Given the description of an element on the screen output the (x, y) to click on. 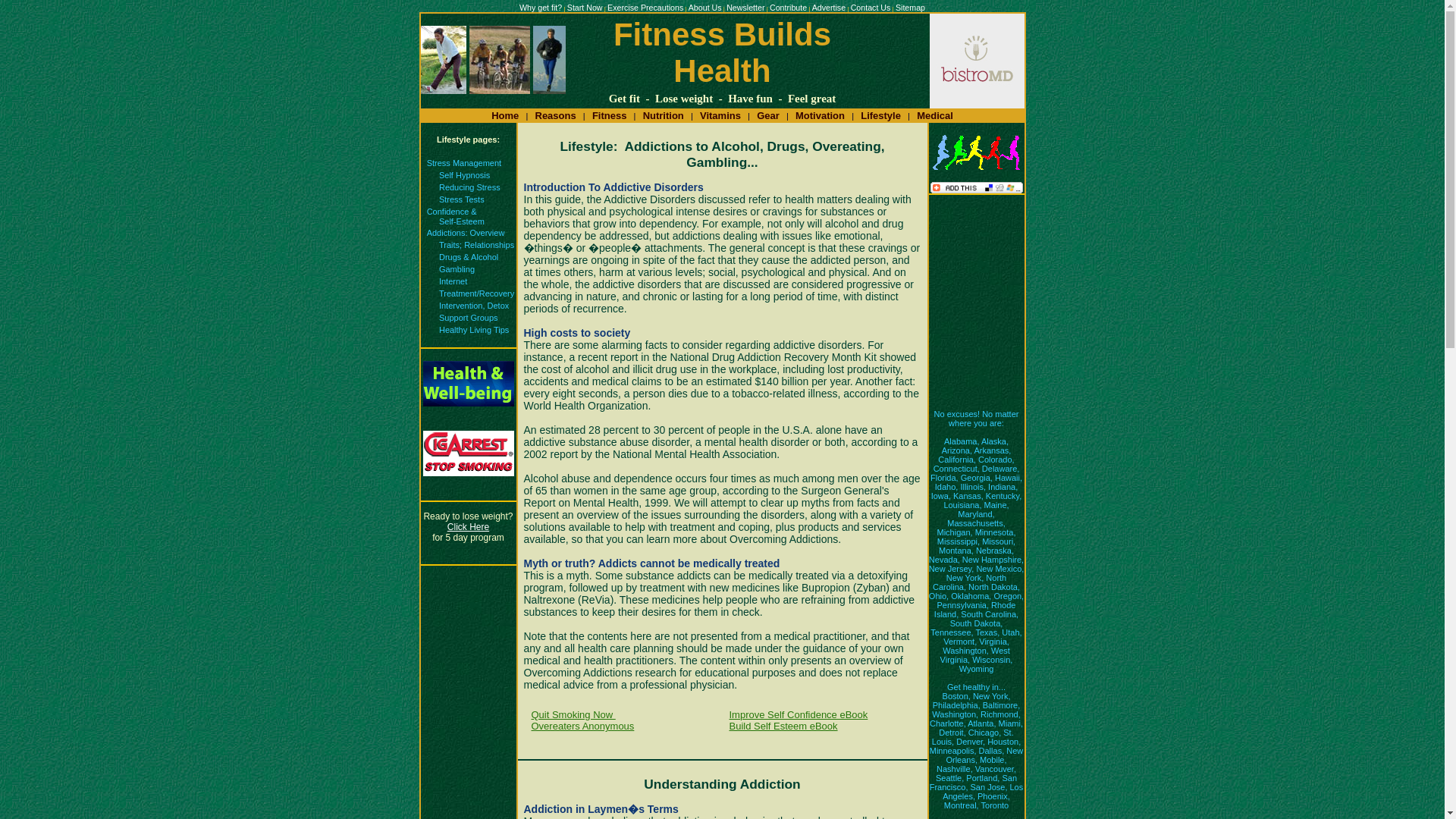
Sitemap (909, 7)
Improve Self Confidence eBook (798, 714)
Lifestyle (880, 114)
Traits; Relationships (476, 244)
Build Self Esteem eBook (783, 726)
Click Here (467, 526)
Exercise Precautions (644, 7)
Reasons (555, 114)
Advertise (828, 7)
Gear (767, 114)
Fitness (609, 114)
Support Groups (468, 317)
Quit Smoking Now (572, 714)
Self Hypnosis (464, 174)
Intervention, Detox (473, 305)
